Given the description of an element on the screen output the (x, y) to click on. 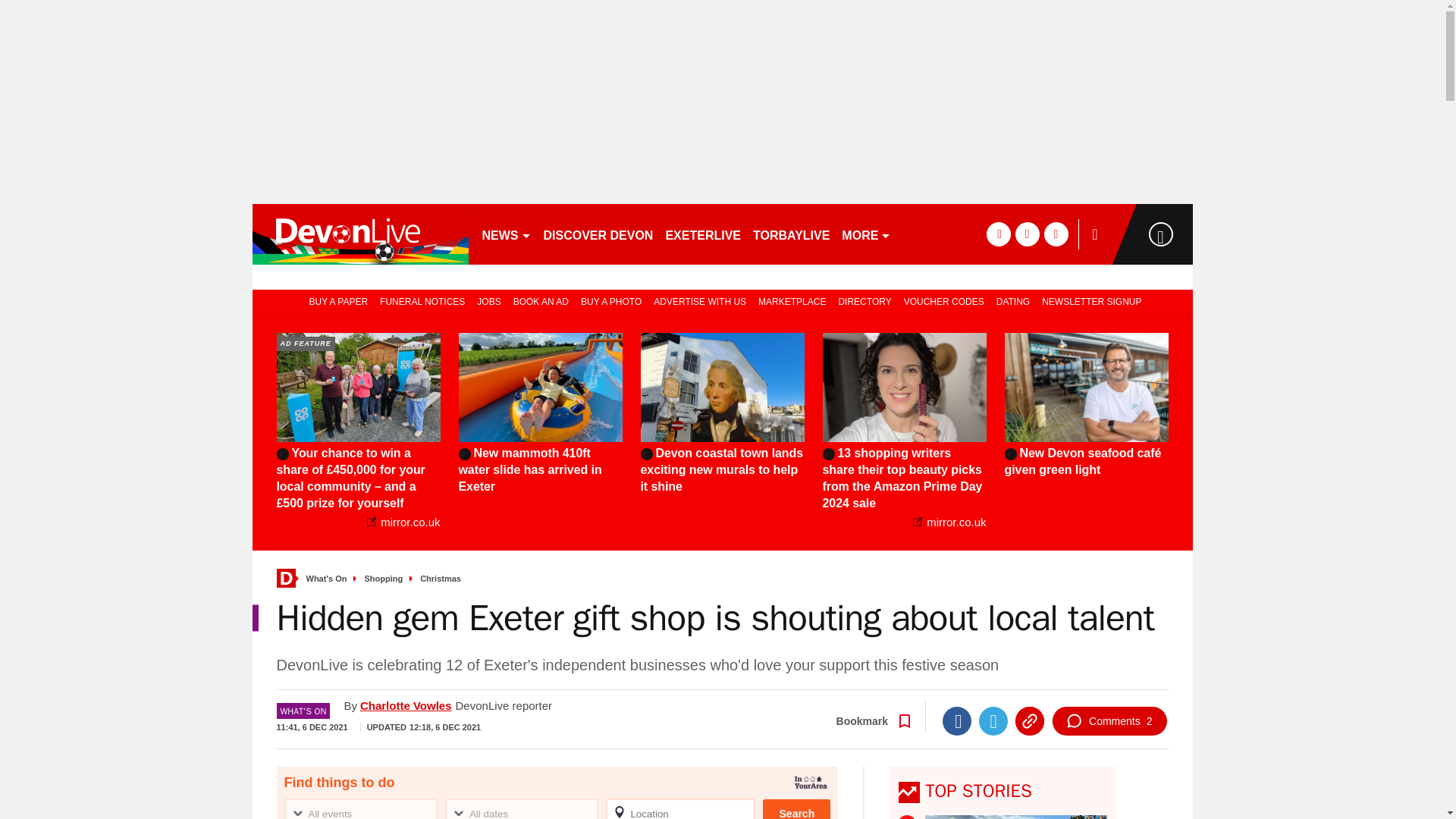
instagram (1055, 233)
Comments (1108, 720)
TORBAYLIVE (790, 233)
NEWS (506, 233)
Twitter (992, 720)
MORE (865, 233)
Facebook (956, 720)
DISCOVER DEVON (598, 233)
EXETERLIVE (702, 233)
devonlive (359, 233)
facebook (997, 233)
twitter (1026, 233)
